Given the description of an element on the screen output the (x, y) to click on. 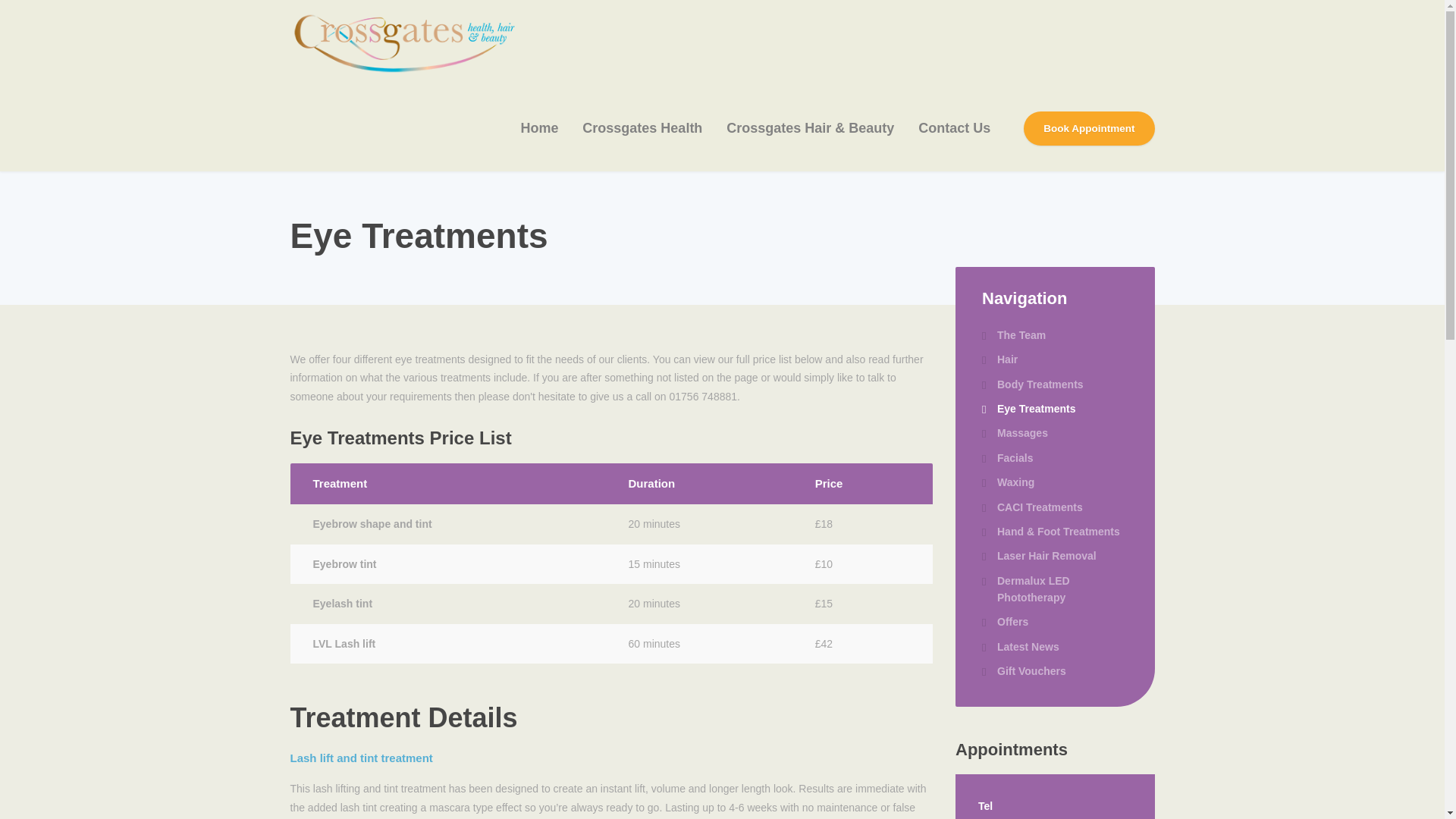
Laser Hair Removal (1038, 555)
Eye Treatments (1028, 408)
Crossgates Health (642, 128)
CACI Treatments (1032, 506)
Home (539, 128)
Contact Us (954, 128)
Offers (1004, 621)
Waxing (1007, 482)
Dermalux LED Phototherapy (1054, 589)
Latest News (1020, 646)
Facials (1006, 457)
The Team (1013, 334)
Massages (1014, 433)
Hair (999, 359)
Book Appointment (1088, 128)
